Given the description of an element on the screen output the (x, y) to click on. 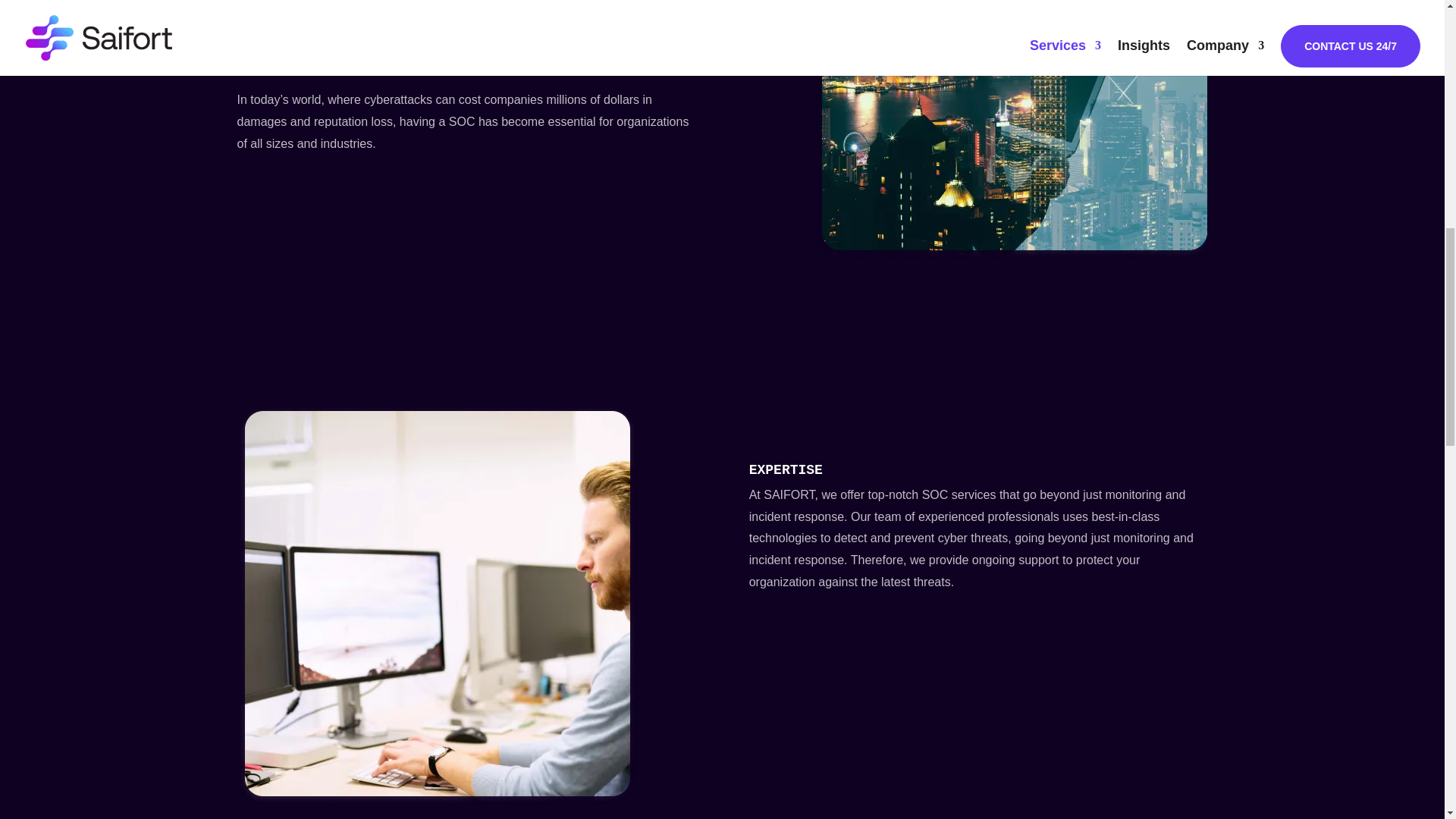
SOC-Overview (1010, 129)
